Given the description of an element on the screen output the (x, y) to click on. 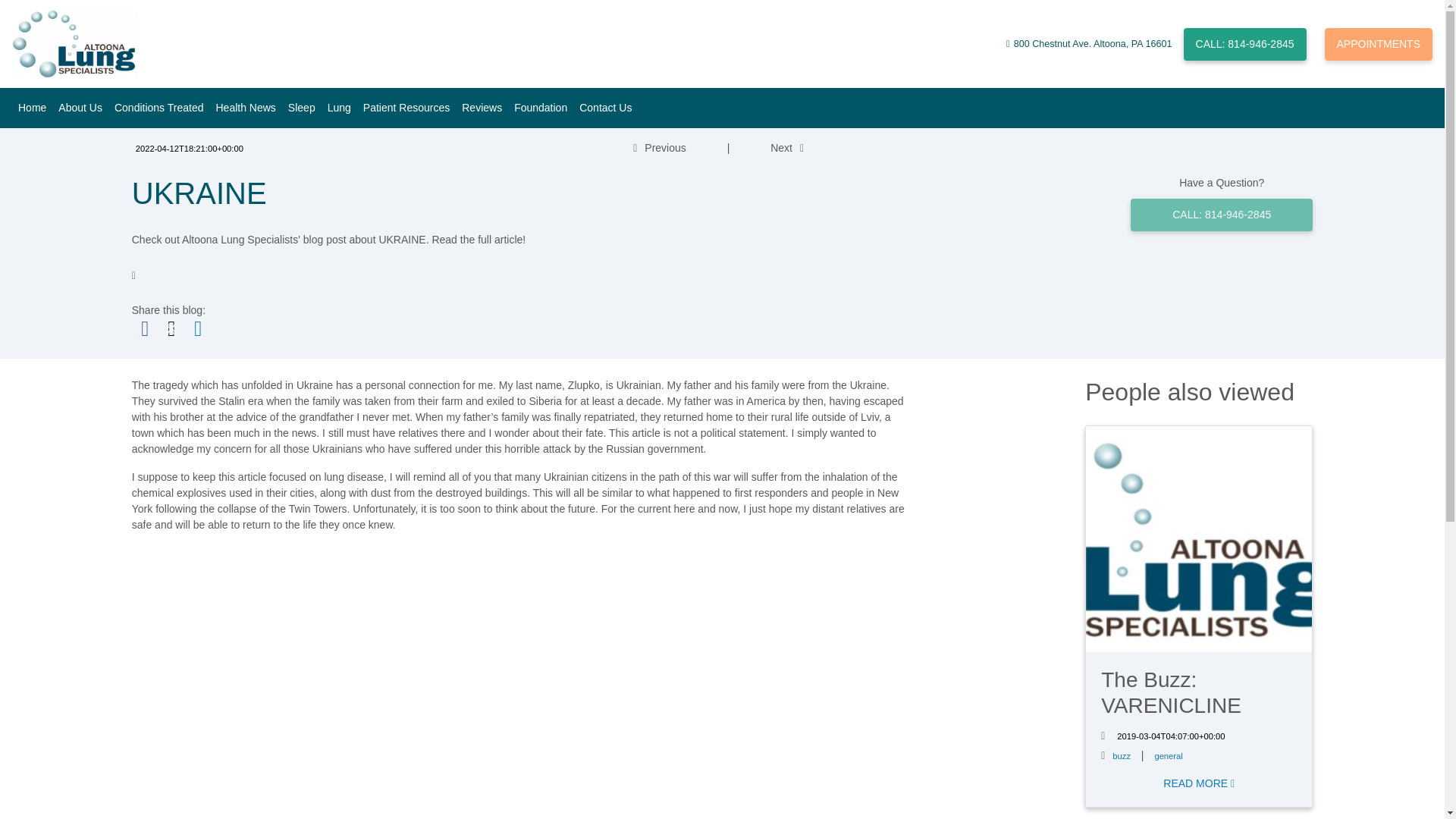
800 Chestnut Ave. Altoona, PA 16601 (1094, 44)
CALL: 814-946-2845 (1244, 43)
APPOINTMENTS (1378, 43)
About Us (79, 108)
Conditions Treated (158, 108)
Home (31, 108)
